Given the description of an element on the screen output the (x, y) to click on. 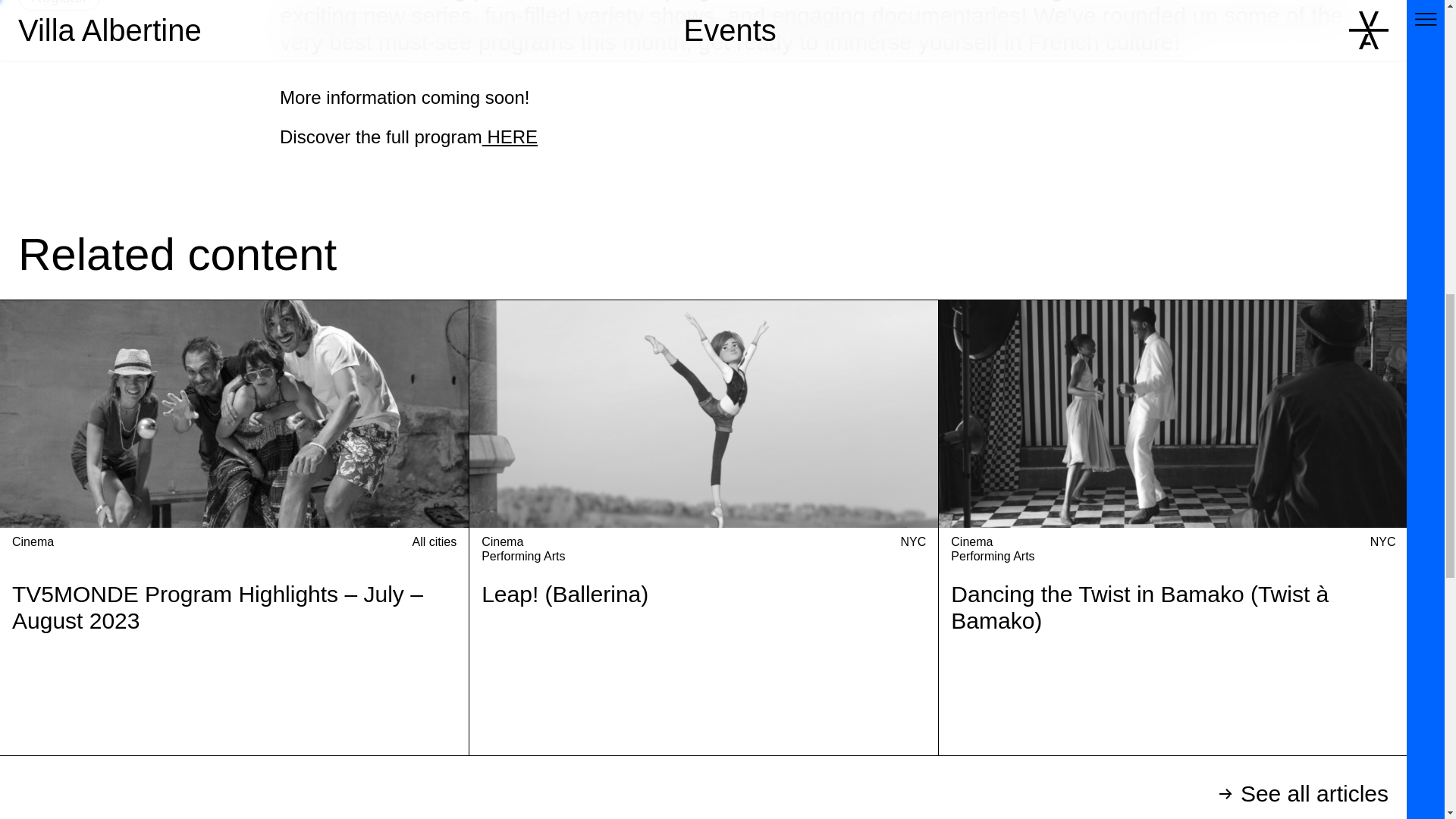
See all articles (703, 787)
HERE (509, 136)
Register (58, 5)
